Given the description of an element on the screen output the (x, y) to click on. 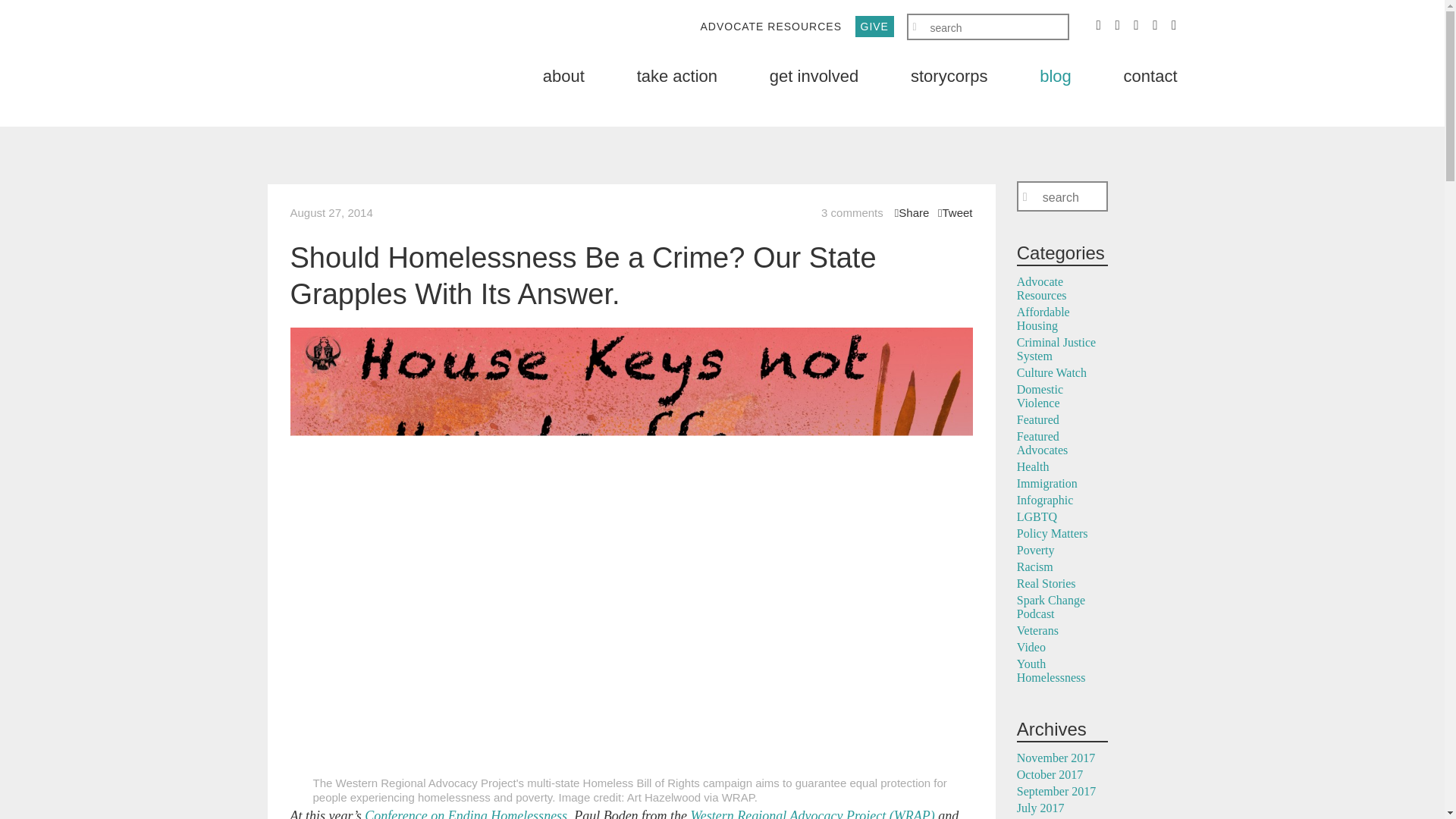
Advocate Resources (1041, 288)
get involved (814, 75)
contact (1150, 75)
about (564, 75)
3 comments (852, 212)
storycorps (949, 75)
Affordable Housing (1043, 318)
ADVOCATE RESOURCES (770, 25)
Tweet (954, 212)
GIVE (874, 25)
